Given the description of an element on the screen output the (x, y) to click on. 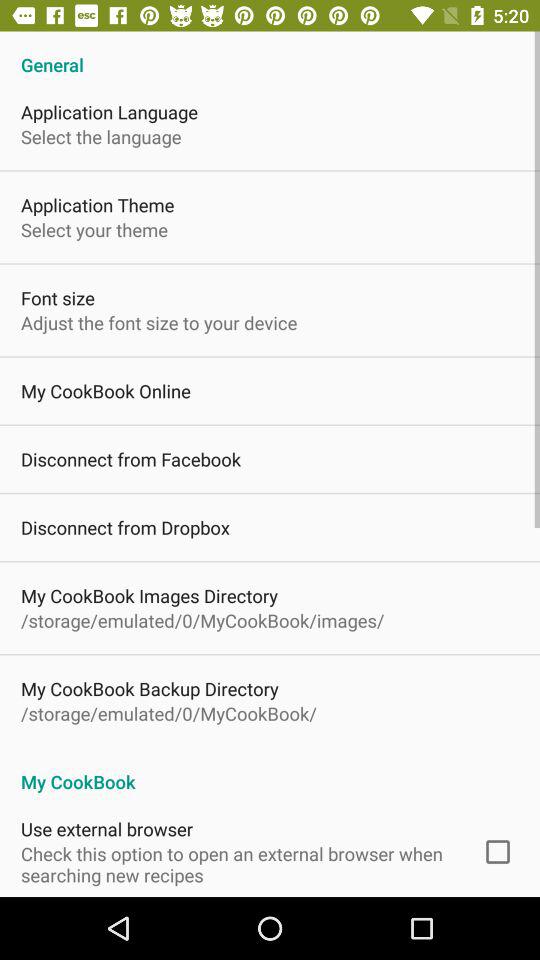
turn off item below application language icon (101, 136)
